Given the description of an element on the screen output the (x, y) to click on. 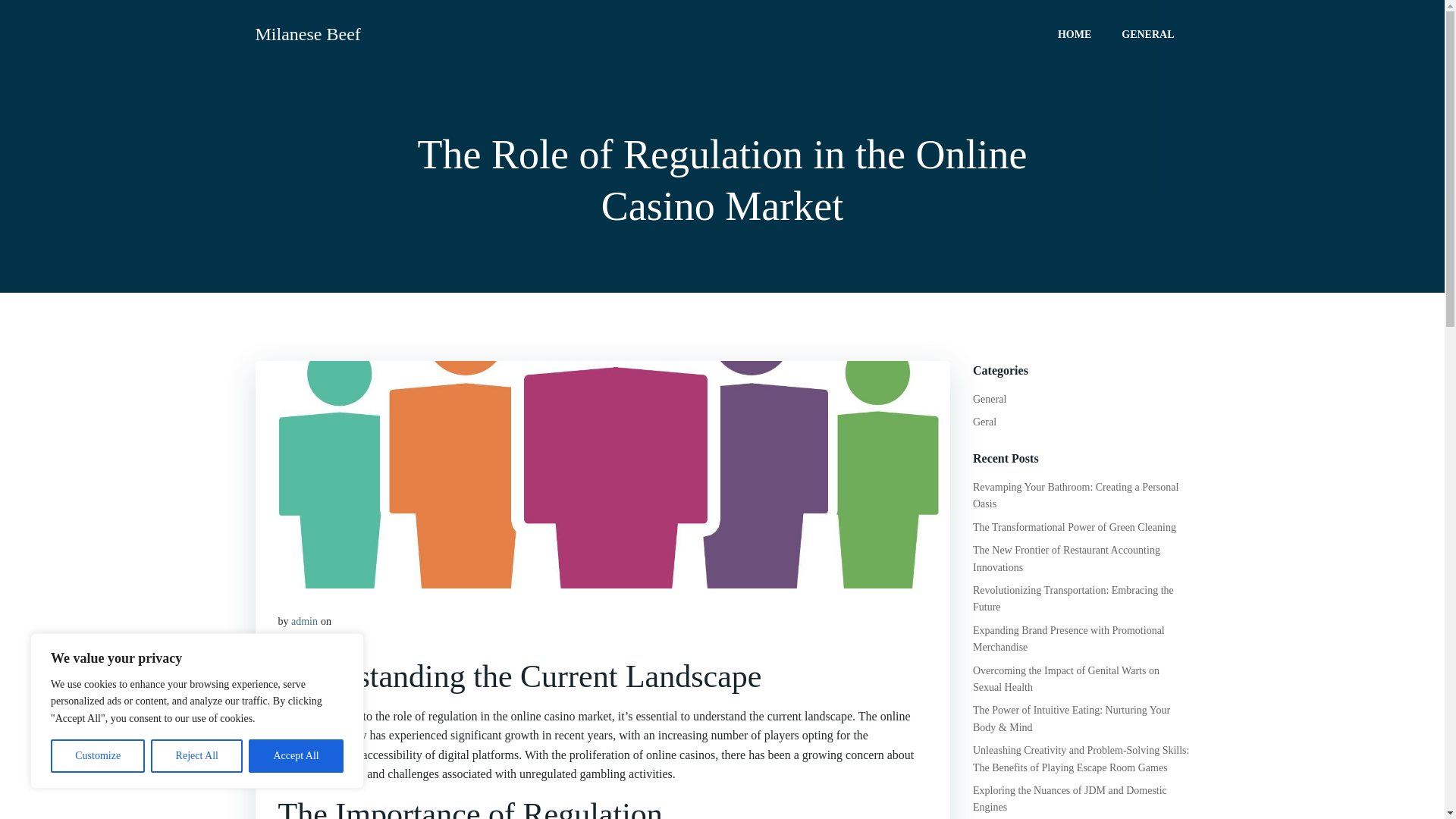
The Transformational Power of Green Cleaning (1074, 527)
GENERAL (1147, 33)
General (989, 398)
Revolutionizing Transportation: Embracing the Future (1072, 598)
Customize (97, 756)
Geral (983, 421)
Revamping Your Bathroom: Creating a Personal Oasis (1074, 495)
The New Frontier of Restaurant Accounting Innovations (1066, 558)
Accept All (295, 756)
admin (304, 621)
